Given the description of an element on the screen output the (x, y) to click on. 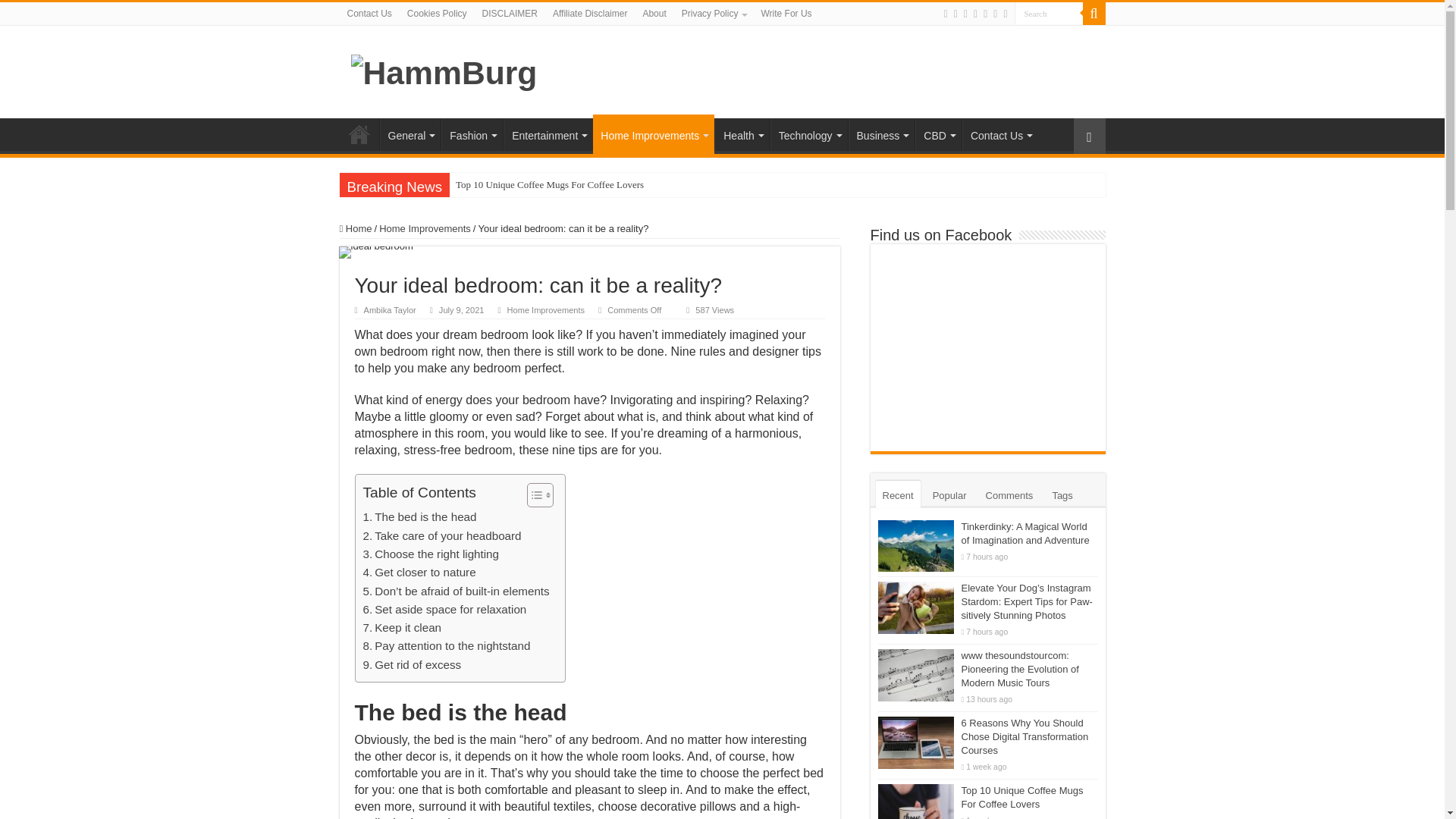
Search (1048, 13)
Search (1048, 13)
Search (1048, 13)
